Given the description of an element on the screen output the (x, y) to click on. 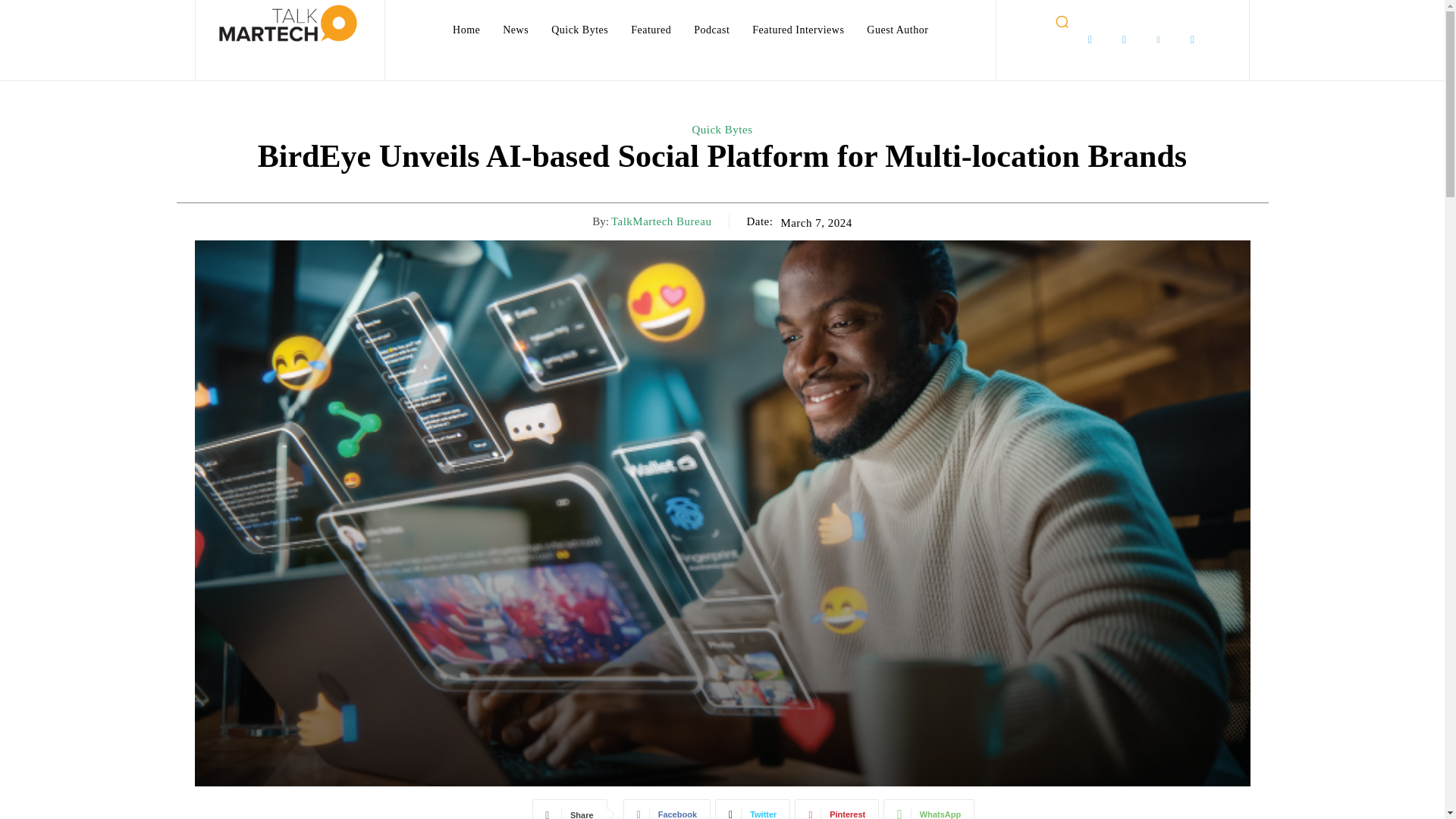
Featured (650, 30)
Quick Bytes (579, 30)
